Given the description of an element on the screen output the (x, y) to click on. 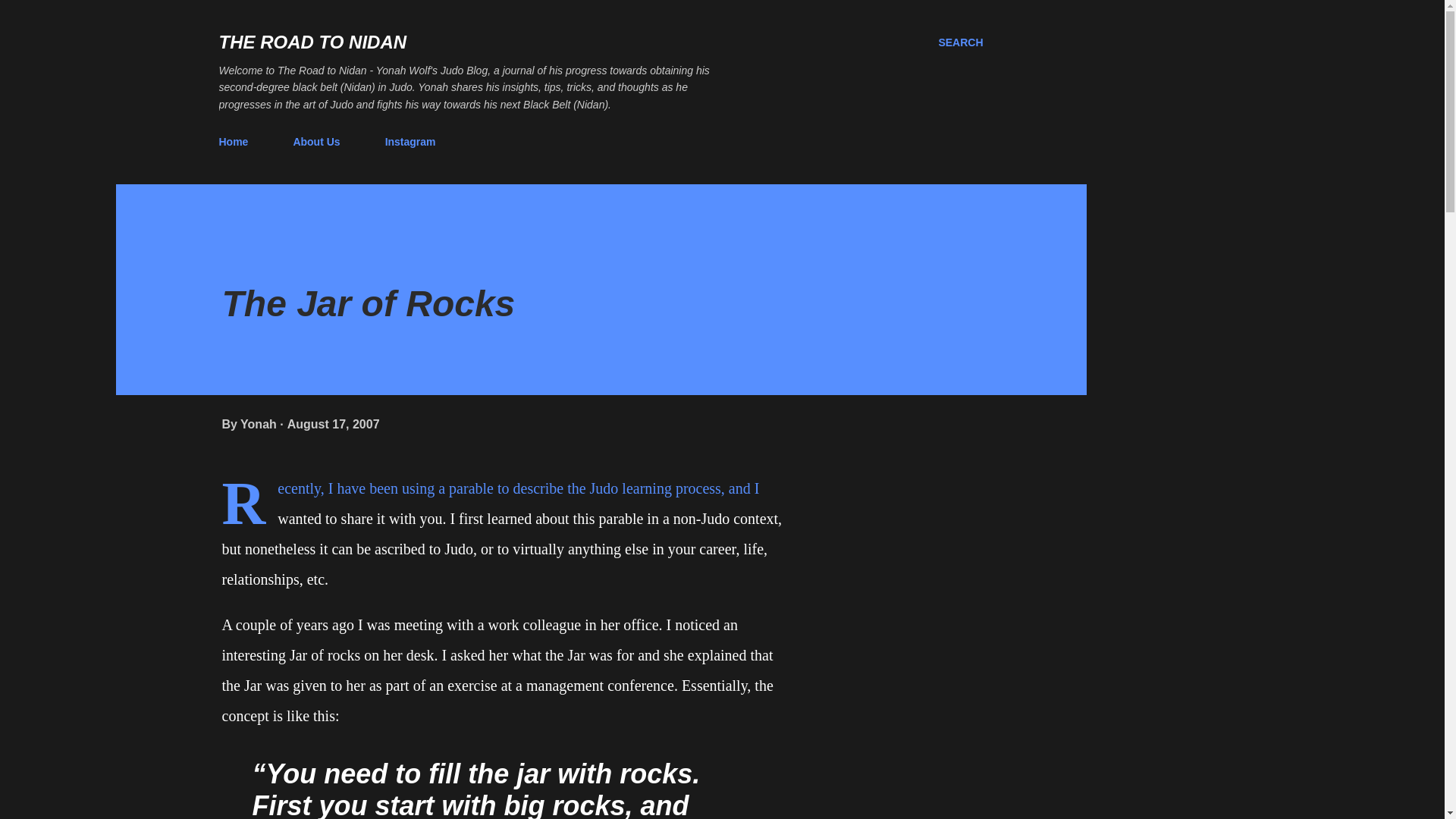
August 17, 2007 (333, 423)
Instagram (410, 141)
author profile (259, 423)
SEARCH (959, 42)
Home (237, 141)
permanent link (333, 423)
THE ROAD TO NIDAN (312, 41)
Yonah (259, 423)
About Us (316, 141)
